Given the description of an element on the screen output the (x, y) to click on. 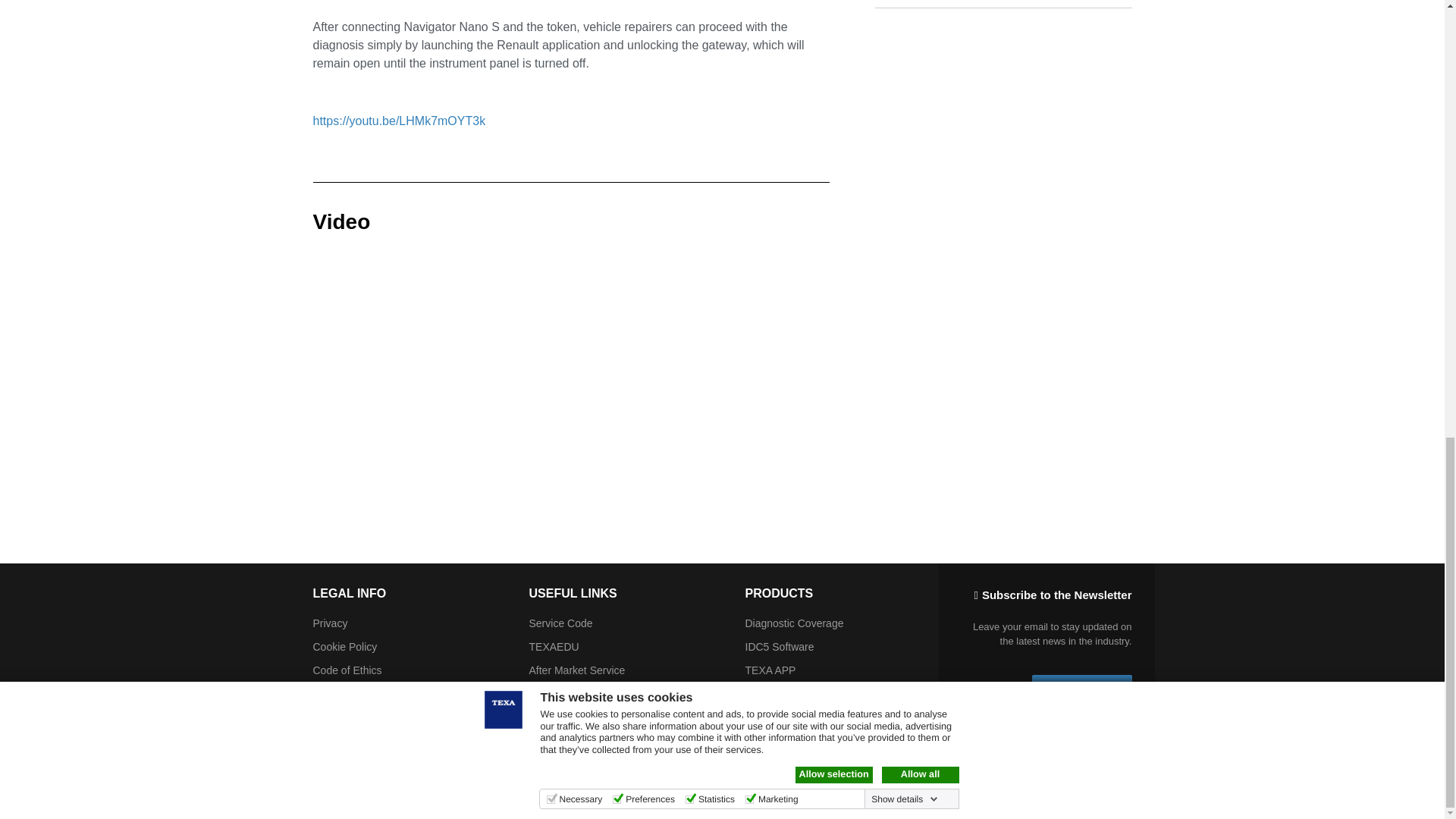
Search (1114, 795)
Search (1114, 795)
